Given the description of an element on the screen output the (x, y) to click on. 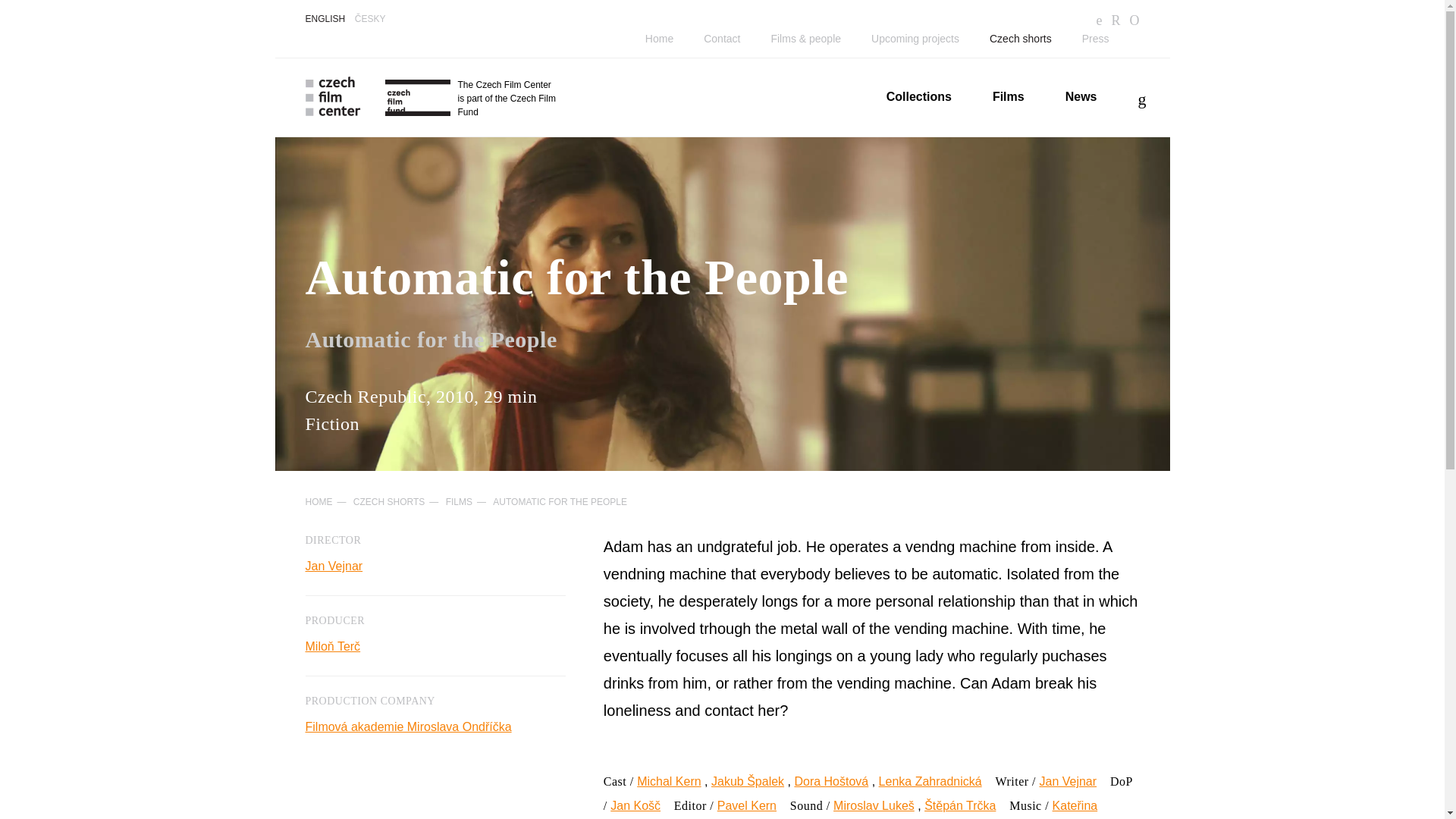
Jan Vejnar (1067, 780)
Contact (721, 38)
News (1081, 96)
Upcoming projects (914, 38)
Czech shorts (1020, 38)
HOME (317, 501)
Jan Vejnar (333, 565)
FILMS (458, 501)
CZECH SHORTS (389, 501)
Michal Kern (668, 780)
